Given the description of an element on the screen output the (x, y) to click on. 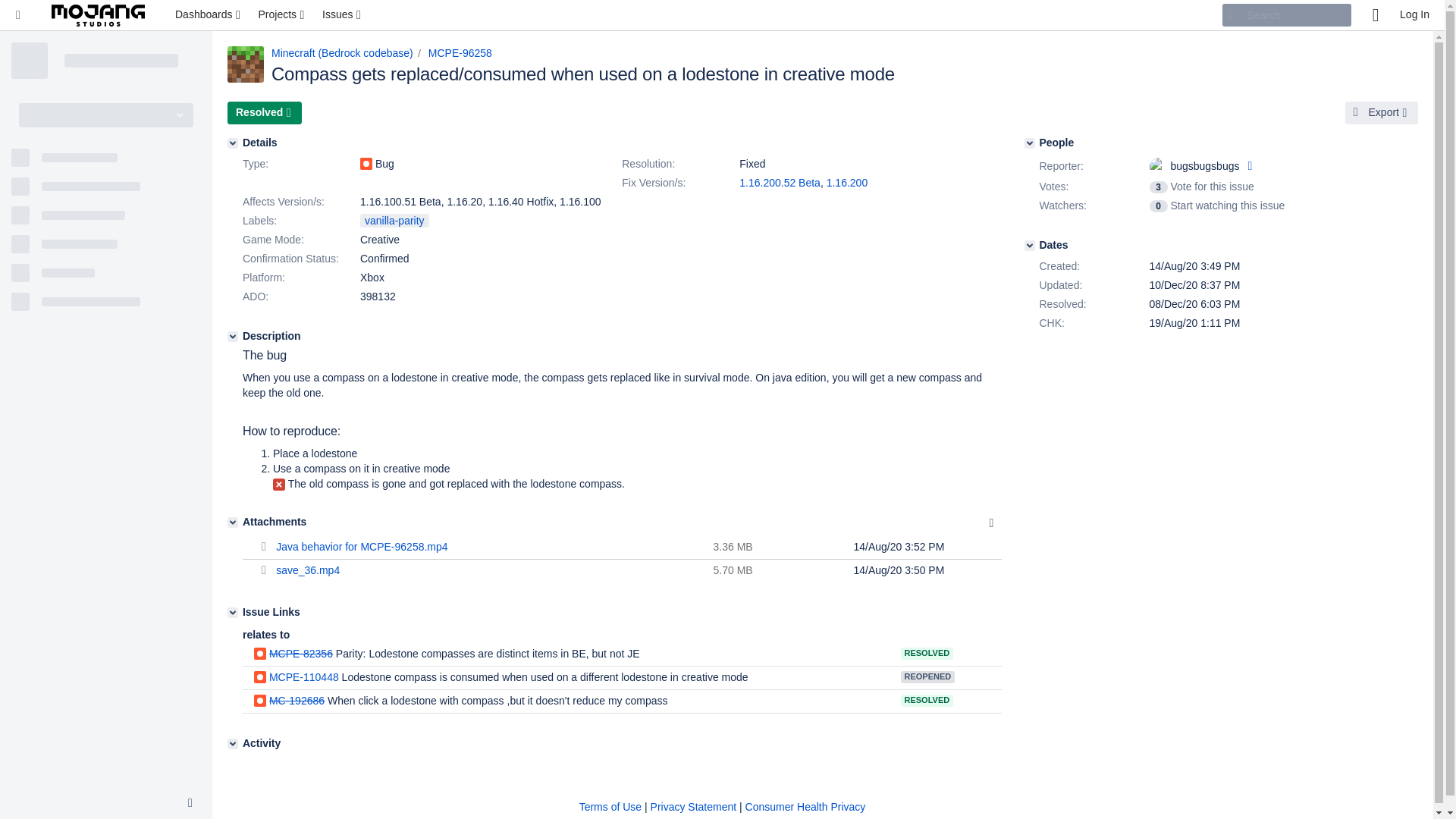
Type (299, 164)
Attachments (232, 521)
Export this issue in another format (1381, 112)
Issues (342, 15)
Resolved (264, 112)
1.16.200.52 Beta (780, 182)
Terms of Use (610, 806)
vanilla-parity (394, 220)
Export (1381, 112)
